Given the description of an element on the screen output the (x, y) to click on. 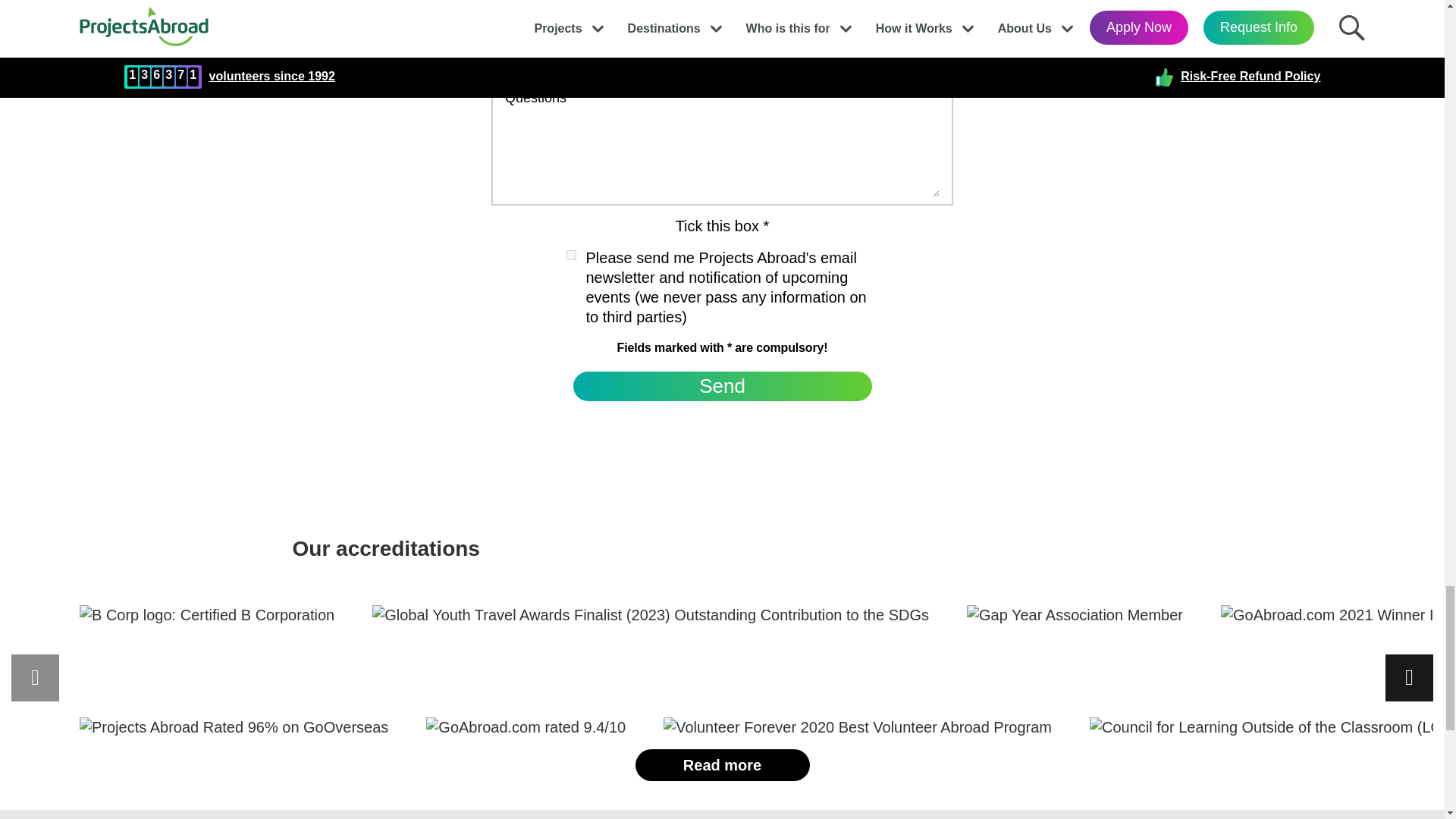
1 (570, 255)
